Given the description of an element on the screen output the (x, y) to click on. 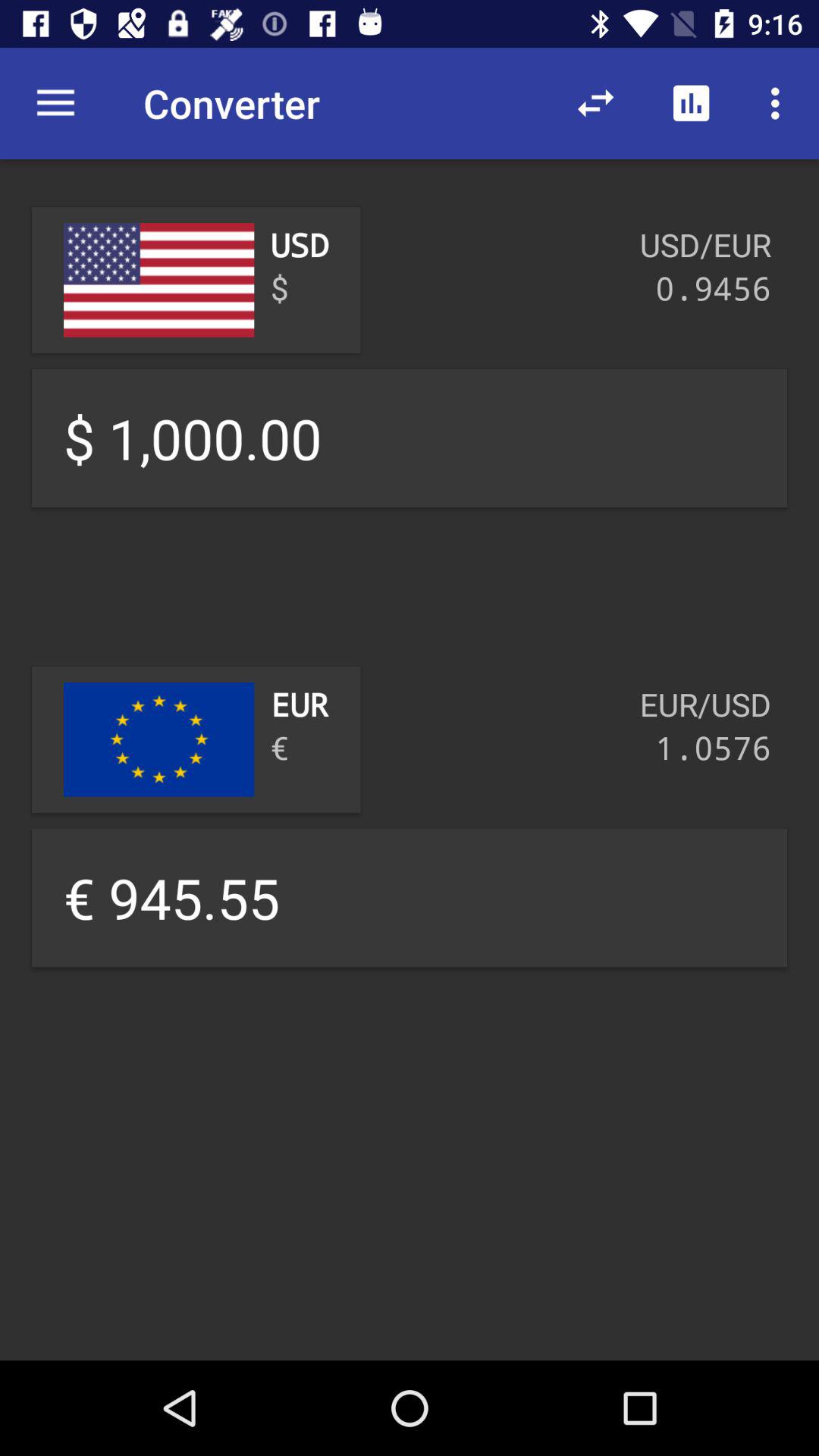
launch item above the usd/eur icon (691, 103)
